Given the description of an element on the screen output the (x, y) to click on. 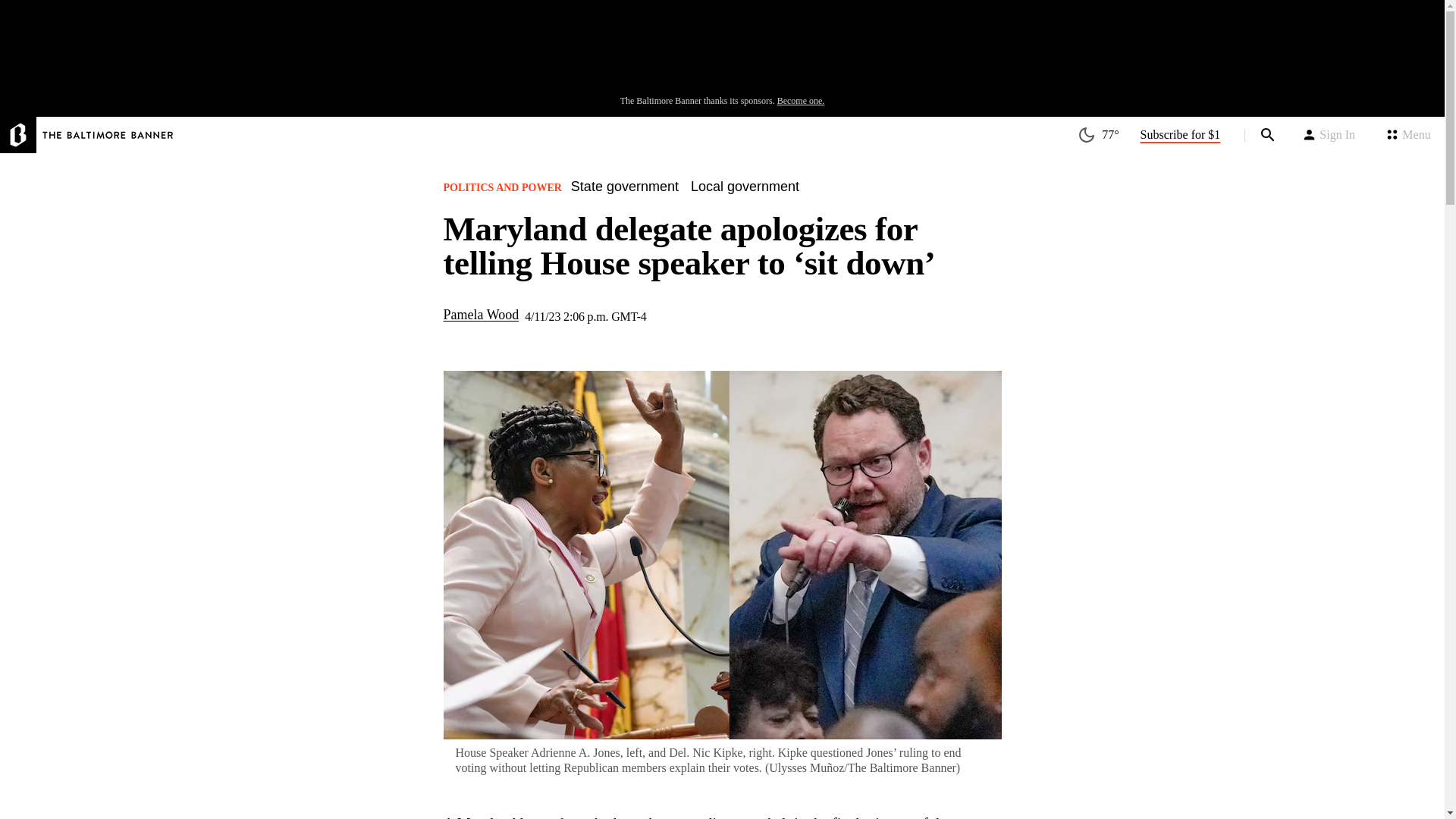
POLITICS AND POWERState governmentLocal government (626, 191)
3rd party ad content (721, 52)
Sign In (1328, 135)
Become one. (801, 100)
